Given the description of an element on the screen output the (x, y) to click on. 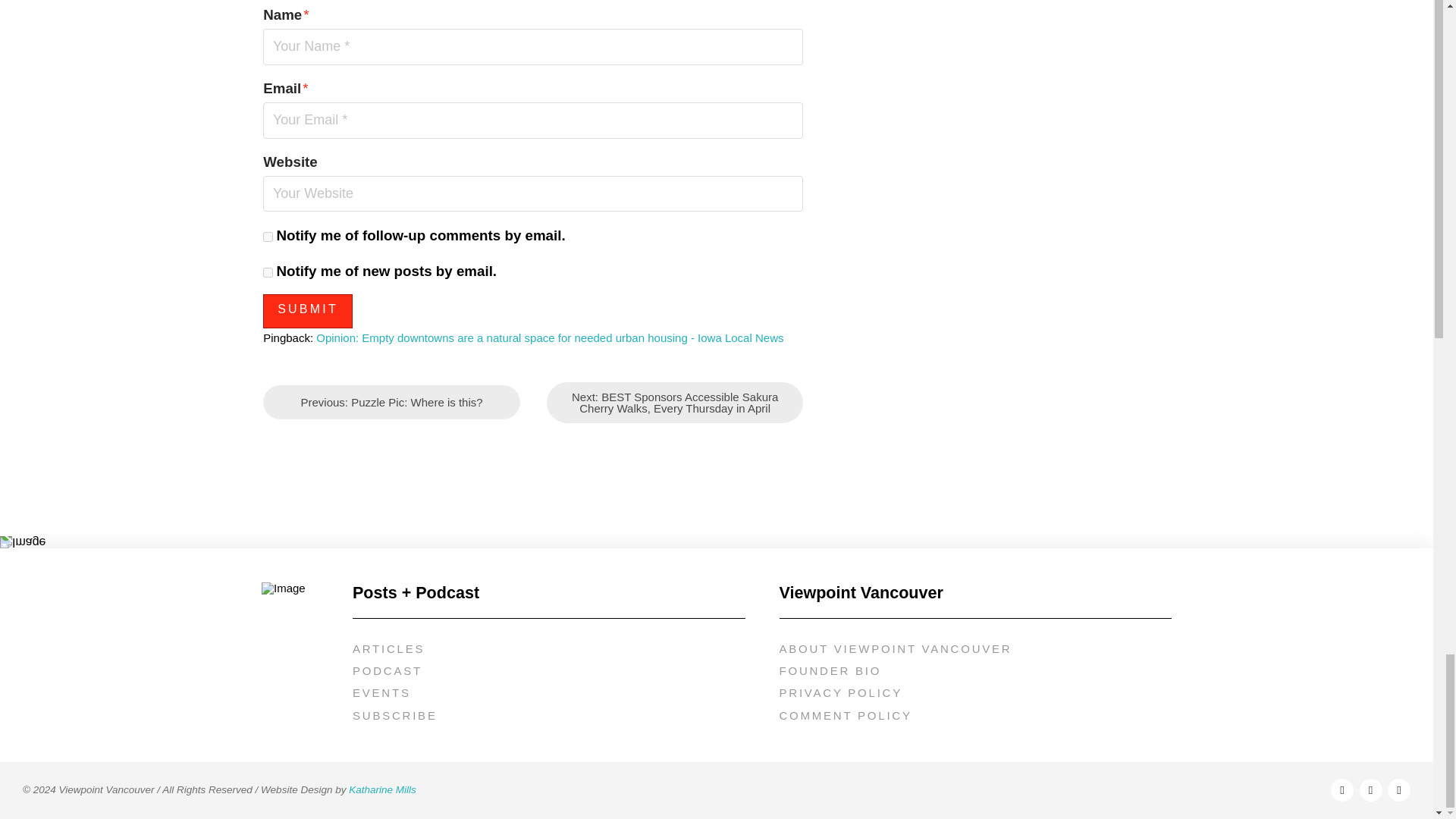
SUBMIT (307, 311)
Previous: Puzzle Pic: Where is this? (391, 401)
Katharine Mills Website Designer Wordpress Developer (382, 789)
subscribe (268, 236)
subscribe (268, 272)
